Given the description of an element on the screen output the (x, y) to click on. 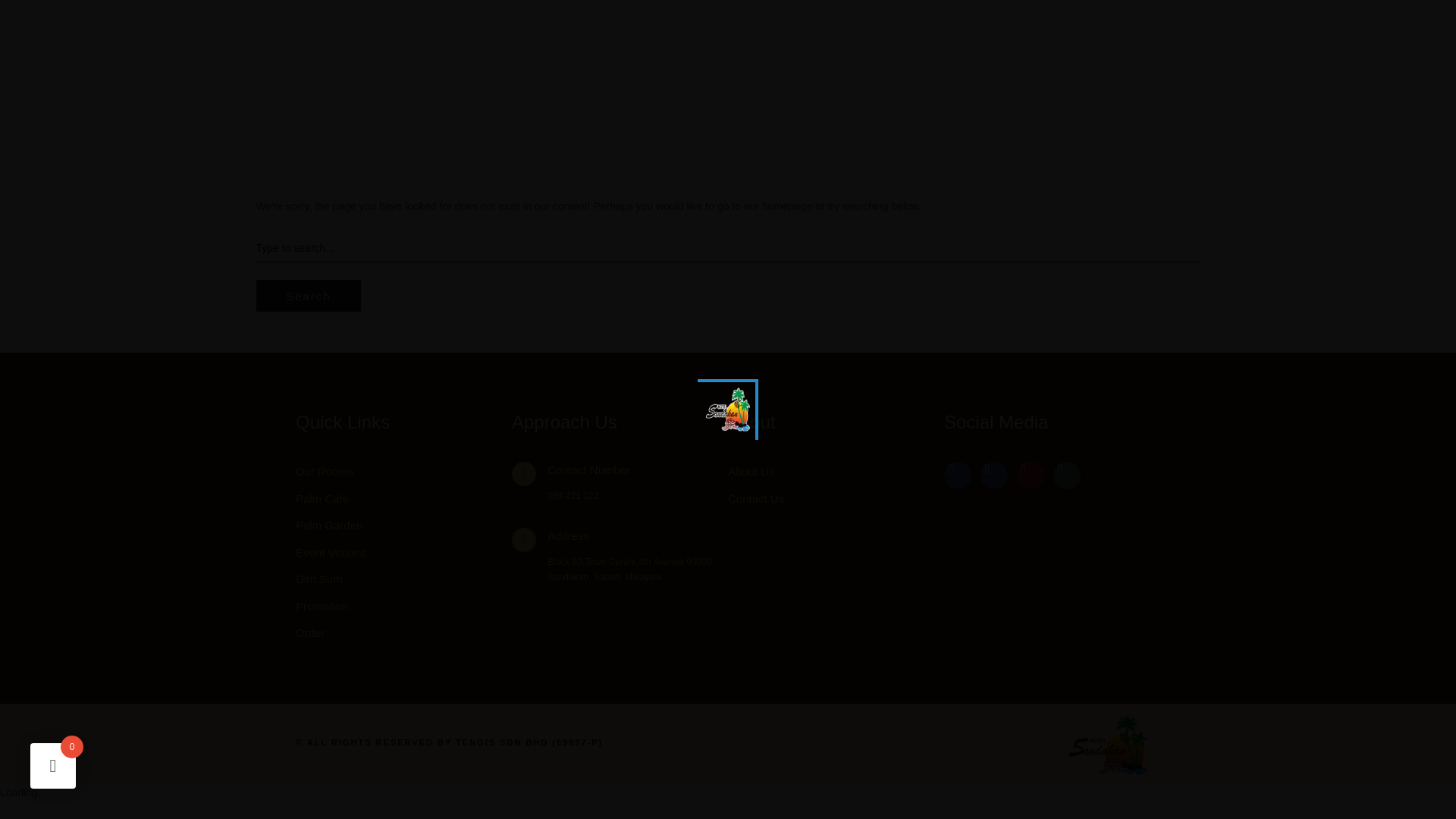
Palm Garden (403, 525)
Our Rooms (403, 471)
Contact Us (835, 498)
Palm Cafe (403, 498)
Promotion (403, 606)
Dim Sum (403, 578)
Event Venues (403, 552)
About Us (835, 471)
Order (403, 632)
Search (308, 296)
